Given the description of an element on the screen output the (x, y) to click on. 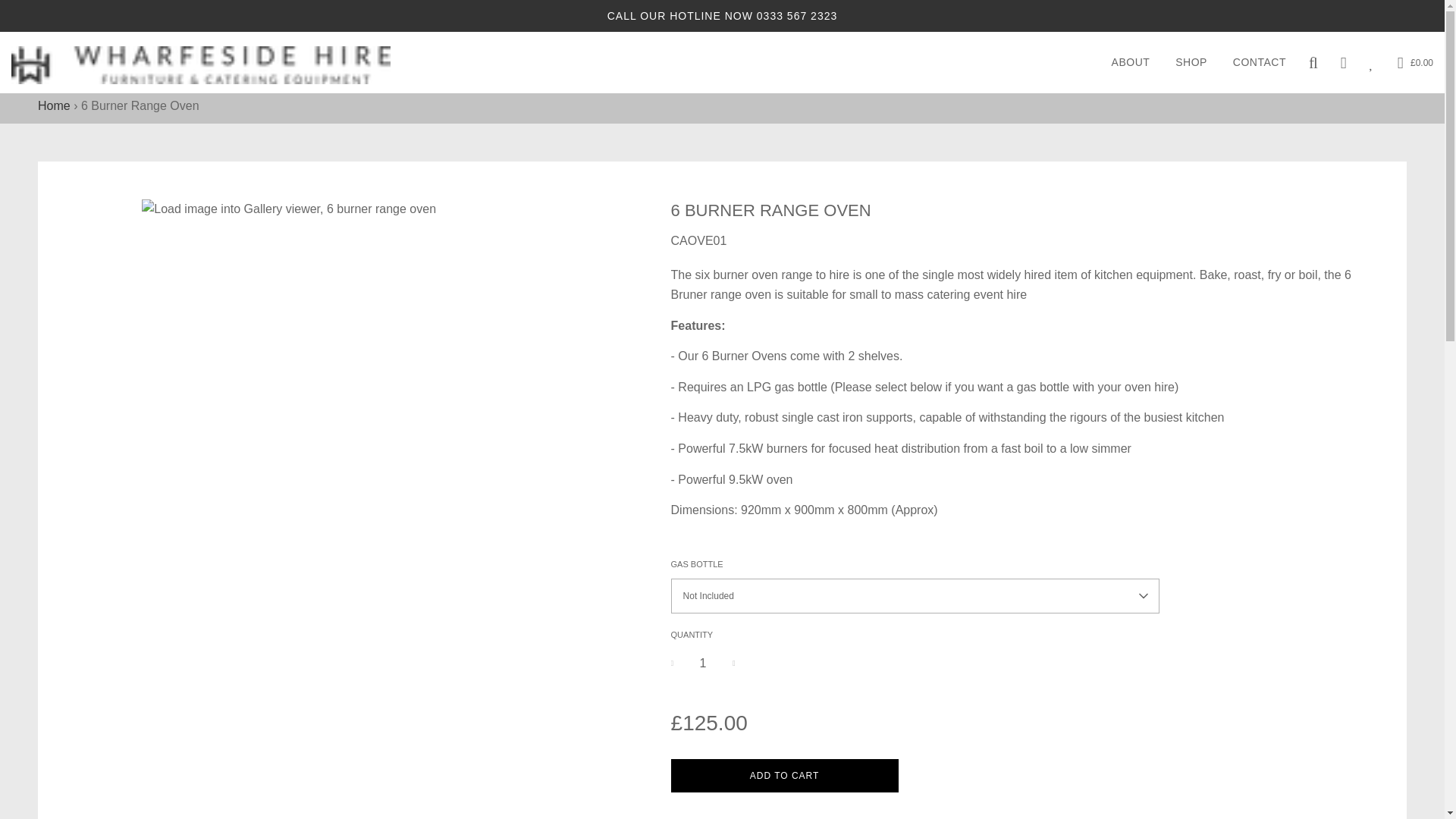
1 (703, 663)
SHOP (1190, 61)
ABOUT (1130, 61)
Back to the frontpage (53, 105)
